Given the description of an element on the screen output the (x, y) to click on. 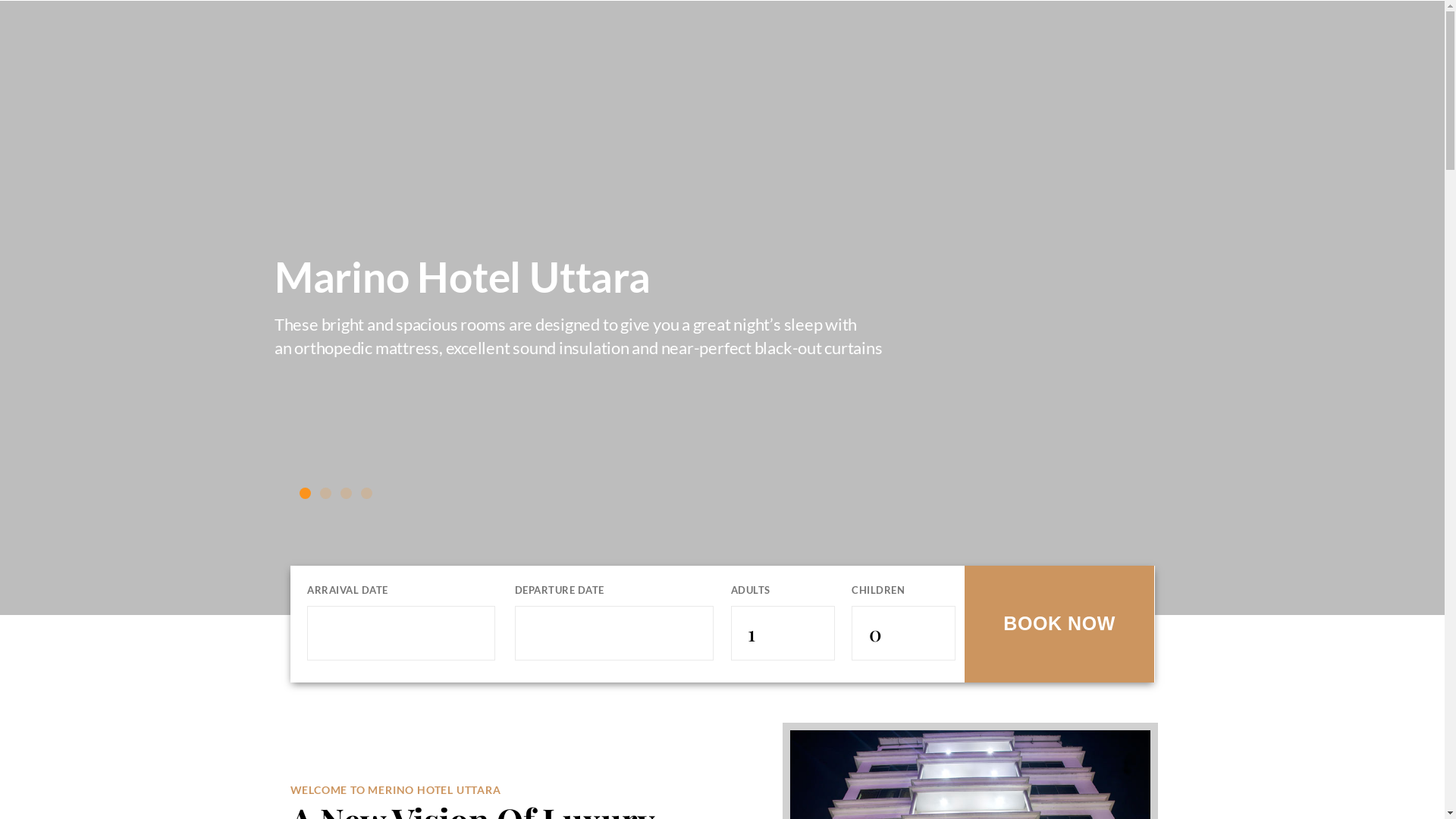
BOOK NOW Element type: text (1059, 623)
